Given the description of an element on the screen output the (x, y) to click on. 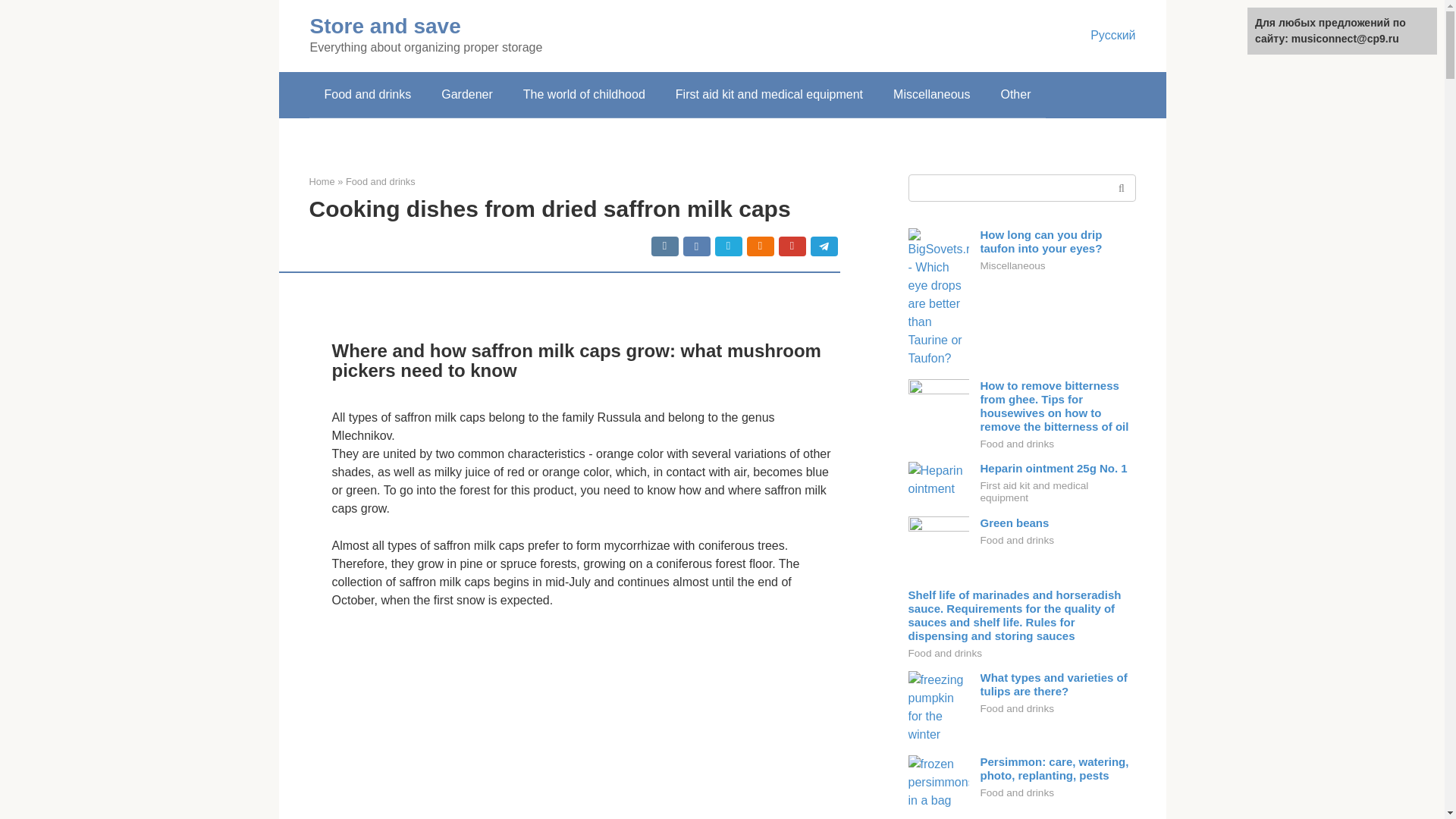
The world of childhood (584, 94)
Store and save (384, 25)
Other (1015, 94)
Food and drinks (367, 94)
Gardener (467, 94)
Food and drinks (380, 181)
Home (321, 181)
First aid kit and medical equipment (769, 94)
Miscellaneous (931, 94)
